Given the description of an element on the screen output the (x, y) to click on. 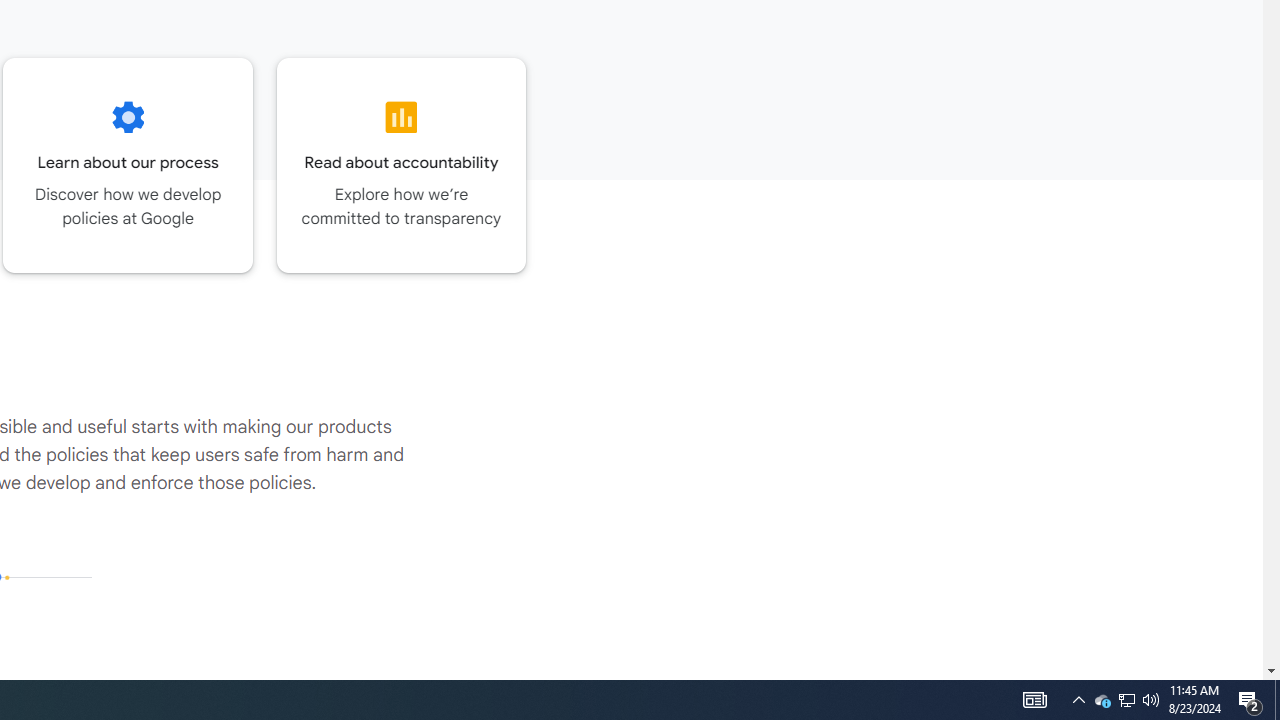
Go to the Our process page (127, 165)
Go to the Accountability page (401, 165)
